Given the description of an element on the screen output the (x, y) to click on. 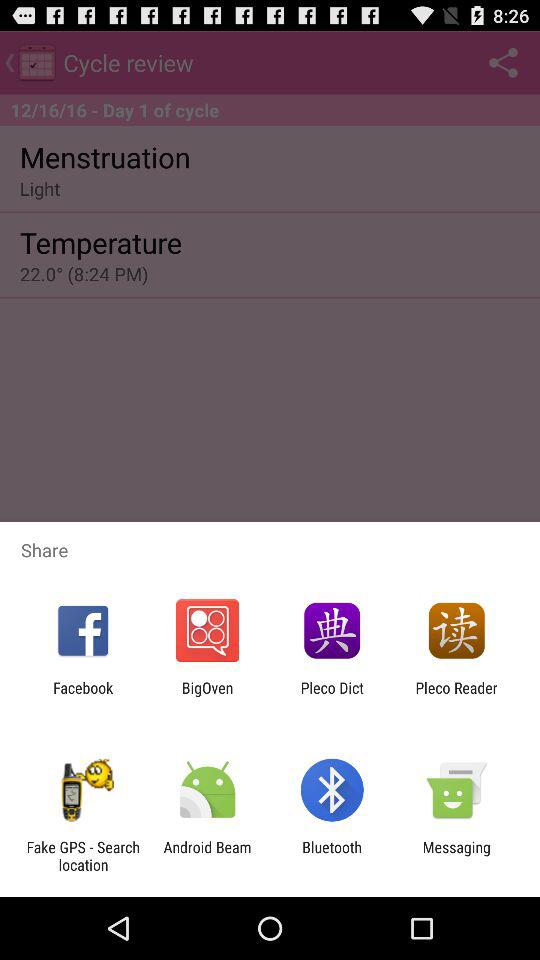
scroll to pleco reader (456, 696)
